Given the description of an element on the screen output the (x, y) to click on. 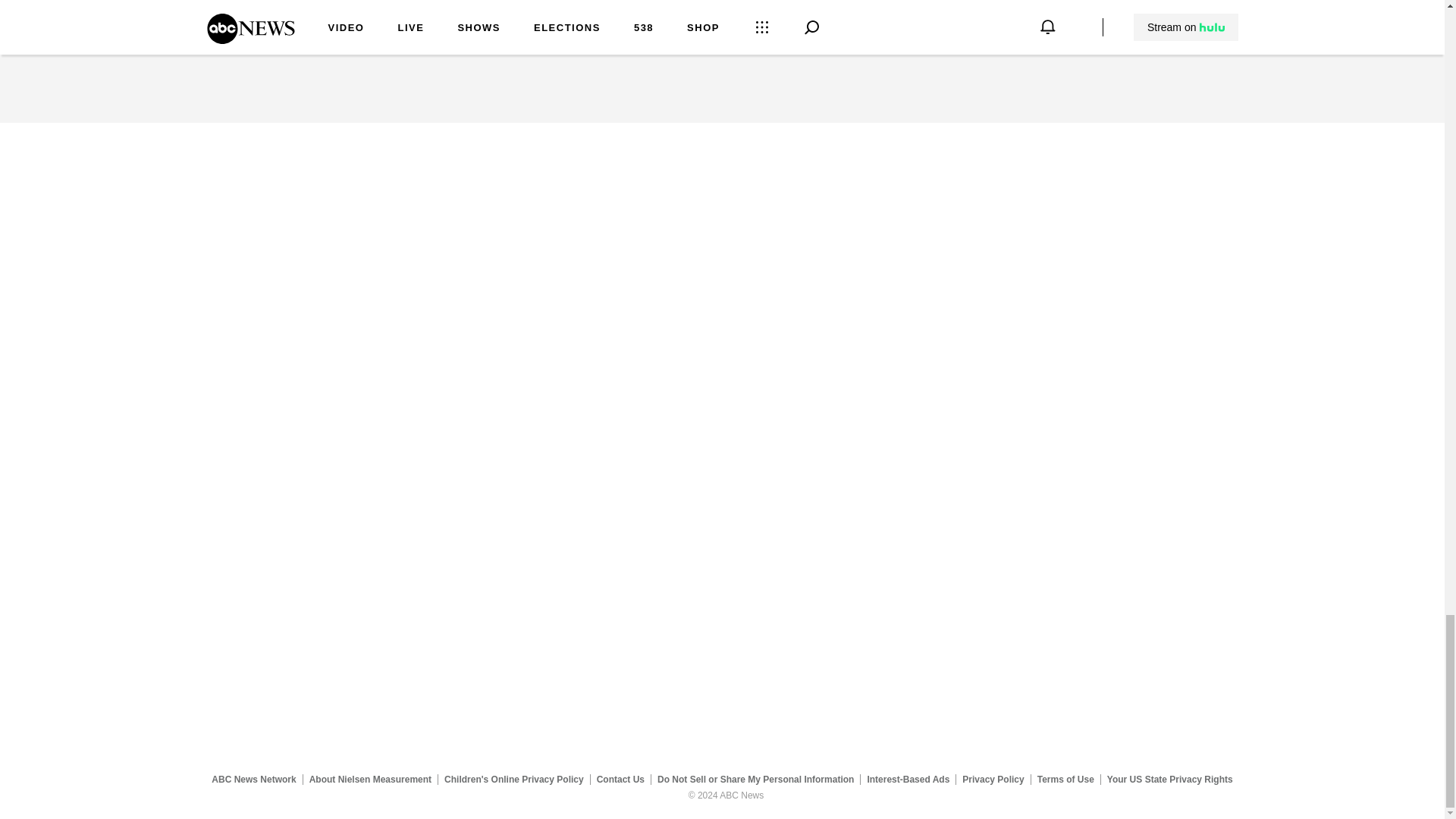
Privacy Policy (993, 778)
Your US State Privacy Rights (1169, 778)
Do Not Sell or Share My Personal Information (755, 778)
ABC News Network (253, 778)
Interest-Based Ads (908, 778)
Contact Us (620, 778)
Children's Online Privacy Policy (514, 778)
About Nielsen Measurement (370, 778)
Terms of Use (1065, 778)
